Given the description of an element on the screen output the (x, y) to click on. 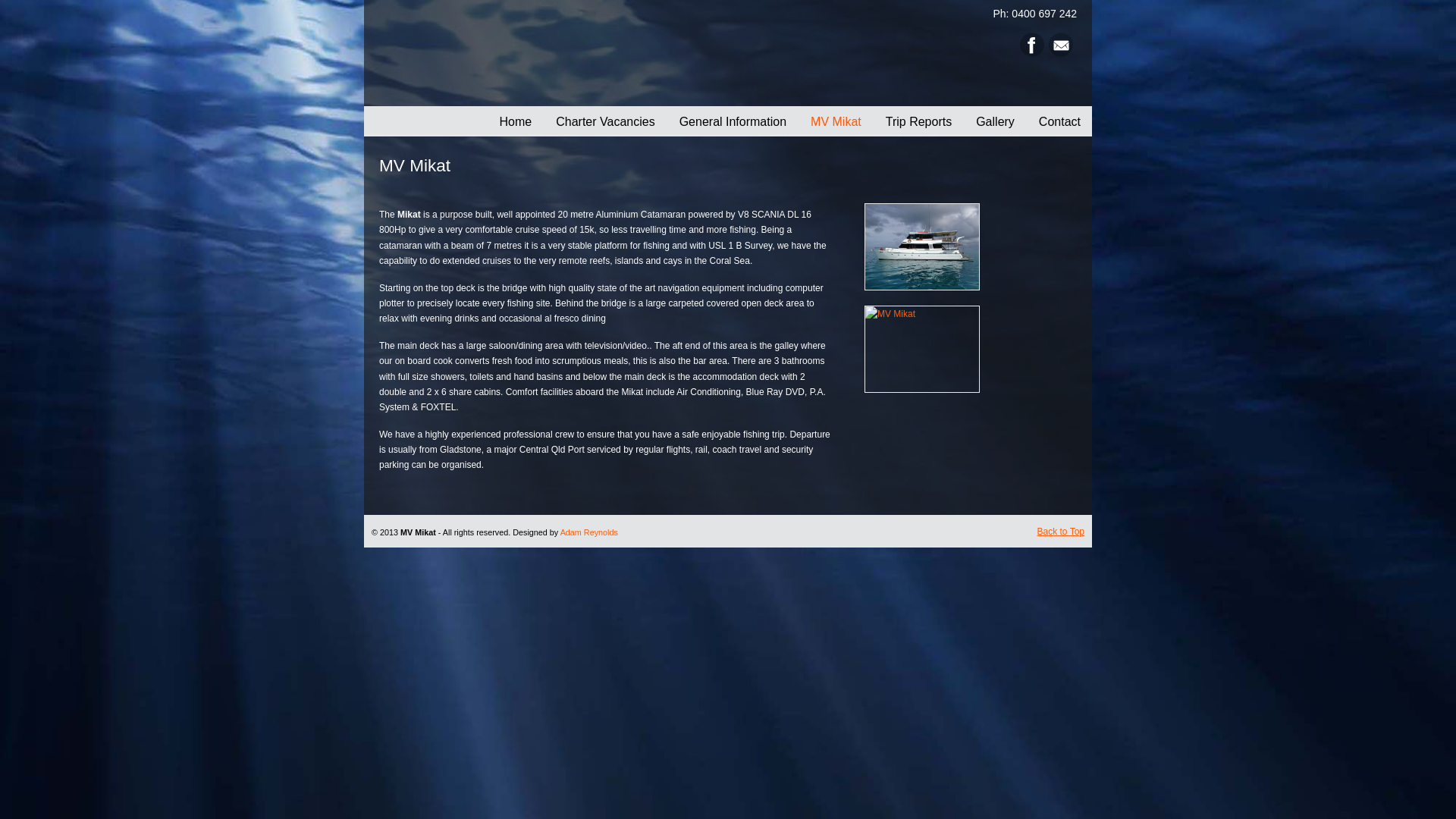
Gallery Element type: text (993, 122)
Charter Vacancies Element type: text (602, 122)
Back to Top Element type: text (1060, 531)
E-mail Element type: hover (1060, 53)
General Information Element type: text (730, 122)
MV Mikat Element type: text (833, 122)
Home Element type: text (513, 122)
Contact Element type: text (1057, 122)
Adam Reynolds Element type: text (589, 531)
MVMikat Element type: hover (921, 348)
Facebook Element type: hover (1031, 53)
MVMikat Element type: hover (921, 246)
Trip Reports Element type: text (916, 122)
